Given the description of an element on the screen output the (x, y) to click on. 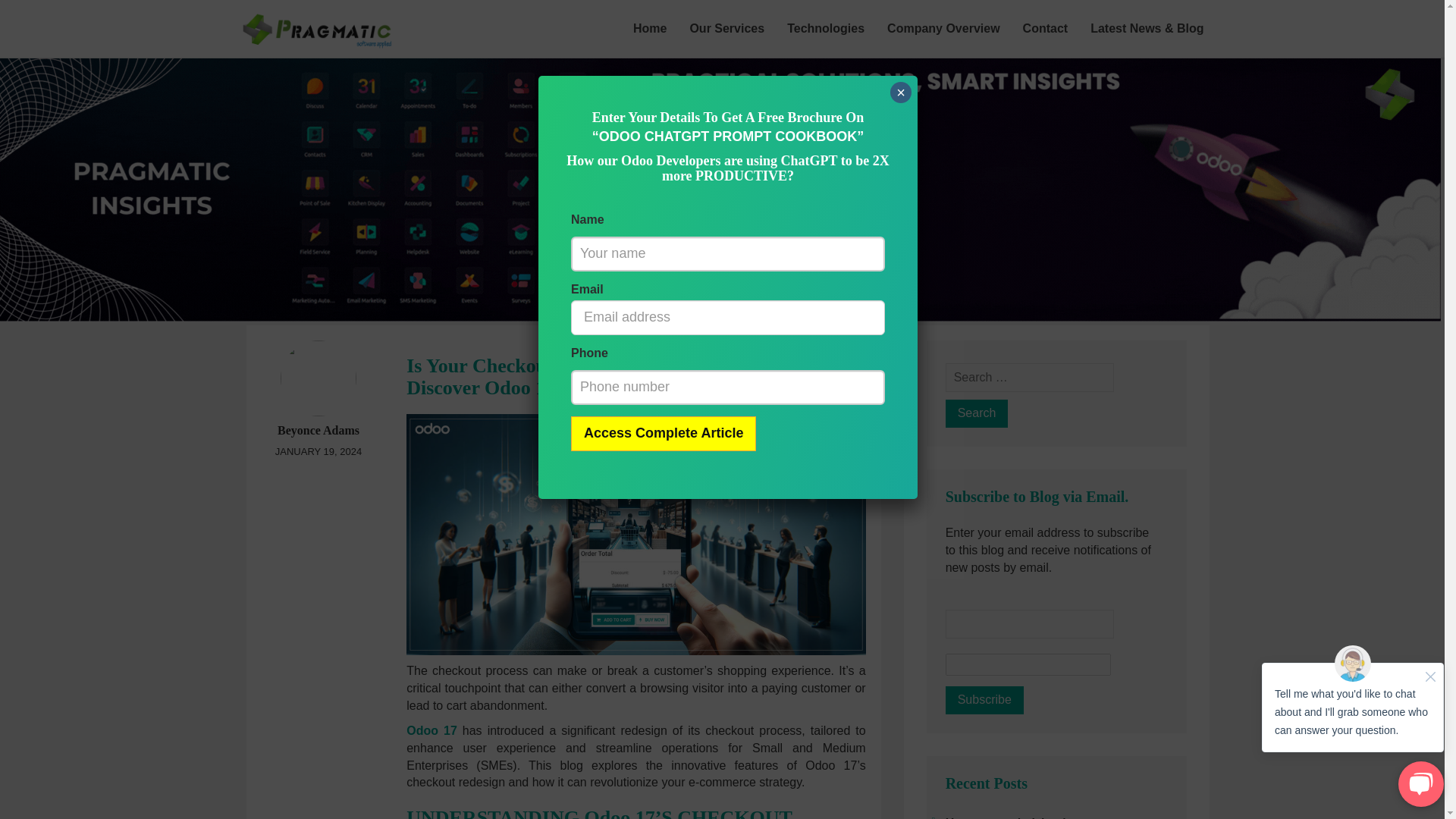
Technologies (826, 28)
Search (976, 413)
Our Services (727, 28)
Odoo 17 (431, 730)
Home (649, 28)
Access Complete Article (662, 433)
Home (649, 28)
Subscribe (983, 700)
Search (976, 413)
Our Services (727, 28)
Beyonce Adams (318, 430)
Technologies (826, 28)
Subscribe (983, 700)
Company Overview (943, 28)
